Given the description of an element on the screen output the (x, y) to click on. 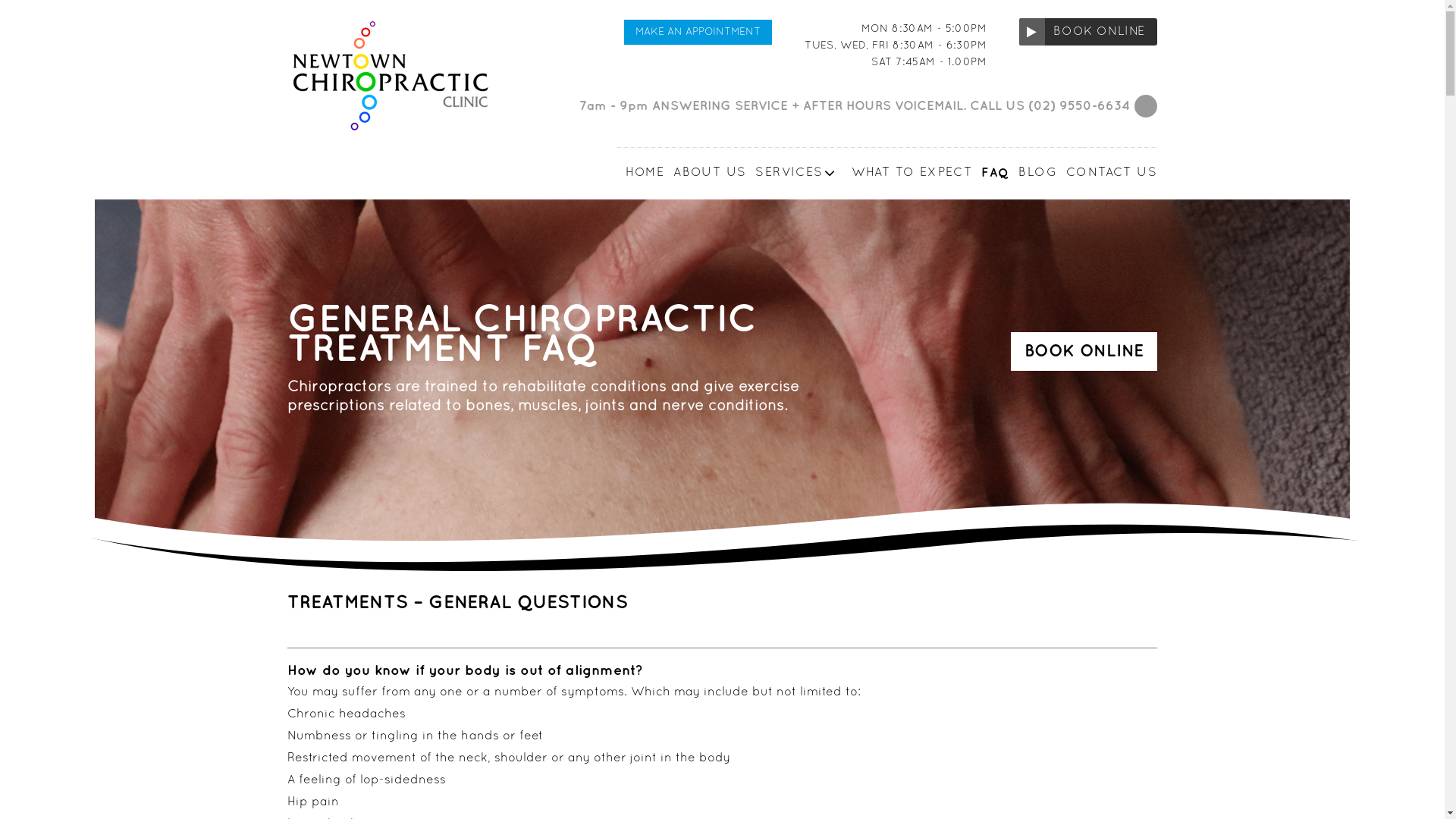
SERVICES Element type: text (793, 173)
BOOK ONLINE Element type: text (1088, 31)
MAKE AN APPOINTMENT Element type: text (697, 31)
Newtown Chiropractic Clinic Element type: text (380, 149)
(02) 9550-6634 Element type: text (1078, 106)
CONTACT US Element type: text (1107, 173)
HOME Element type: text (640, 173)
BLOG Element type: text (1033, 173)
BOOK ONLINE Element type: text (1083, 351)
ABOUT US Element type: text (705, 173)
WHAT TO EXPECT Element type: text (907, 173)
FAQ Element type: text (990, 173)
